Given the description of an element on the screen output the (x, y) to click on. 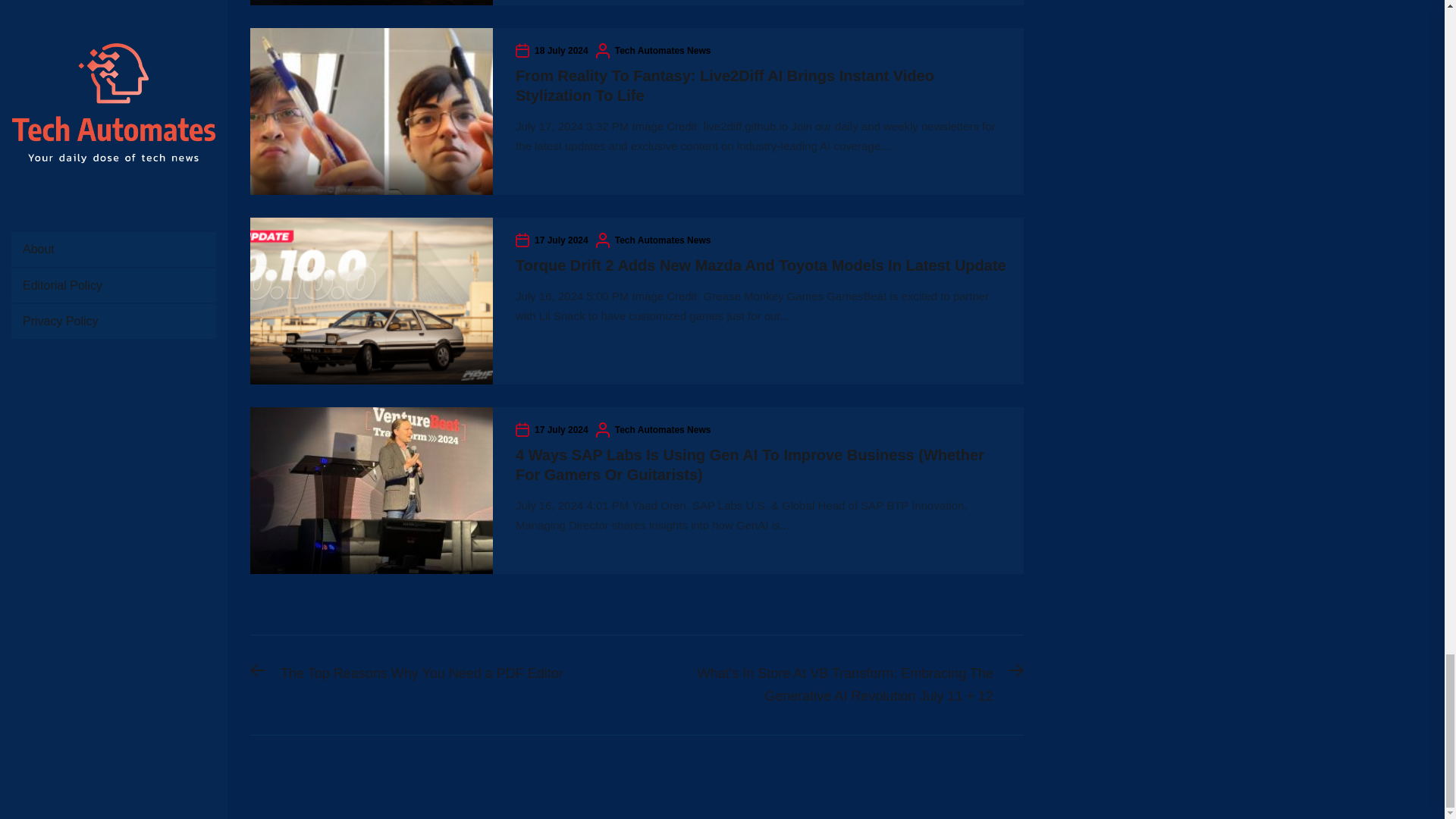
17 July 2024 (406, 673)
18 July 2024 (561, 240)
Tech Automates News (561, 50)
17 July 2024 (662, 50)
Tech Automates News (561, 429)
Tech Automates News (662, 429)
